Given the description of an element on the screen output the (x, y) to click on. 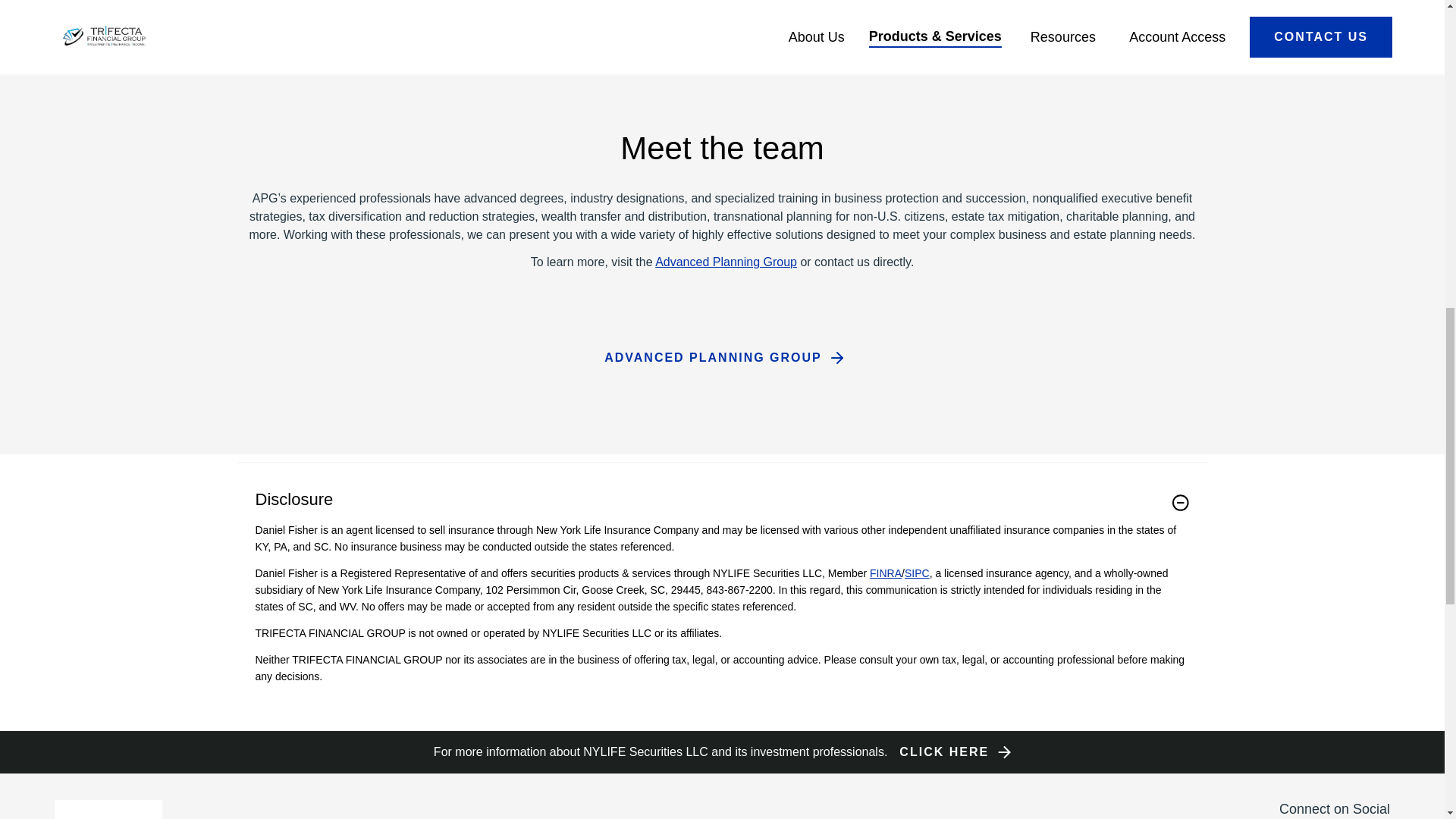
arrow-right (836, 357)
ADVANCED PLANNING GROUP (722, 357)
right-arrow (1003, 751)
circle-minus (1180, 502)
CLICK HERE (953, 752)
Advanced Planning Group (725, 261)
FINRA (885, 573)
SIPC (917, 573)
